Given the description of an element on the screen output the (x, y) to click on. 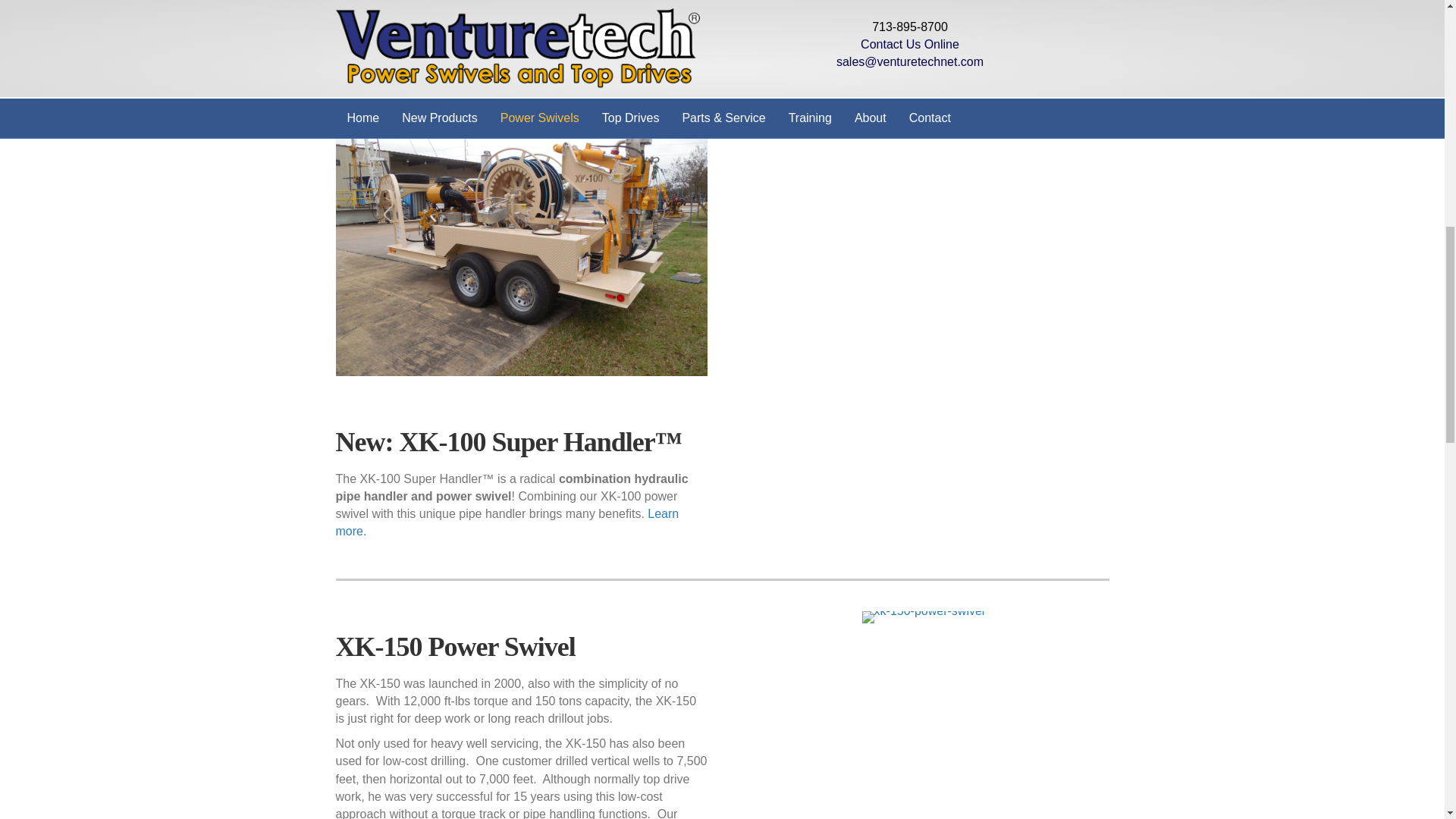
Learn more. (506, 521)
Click Here (430, 49)
xk-150-power-swivel (923, 616)
